Given the description of an element on the screen output the (x, y) to click on. 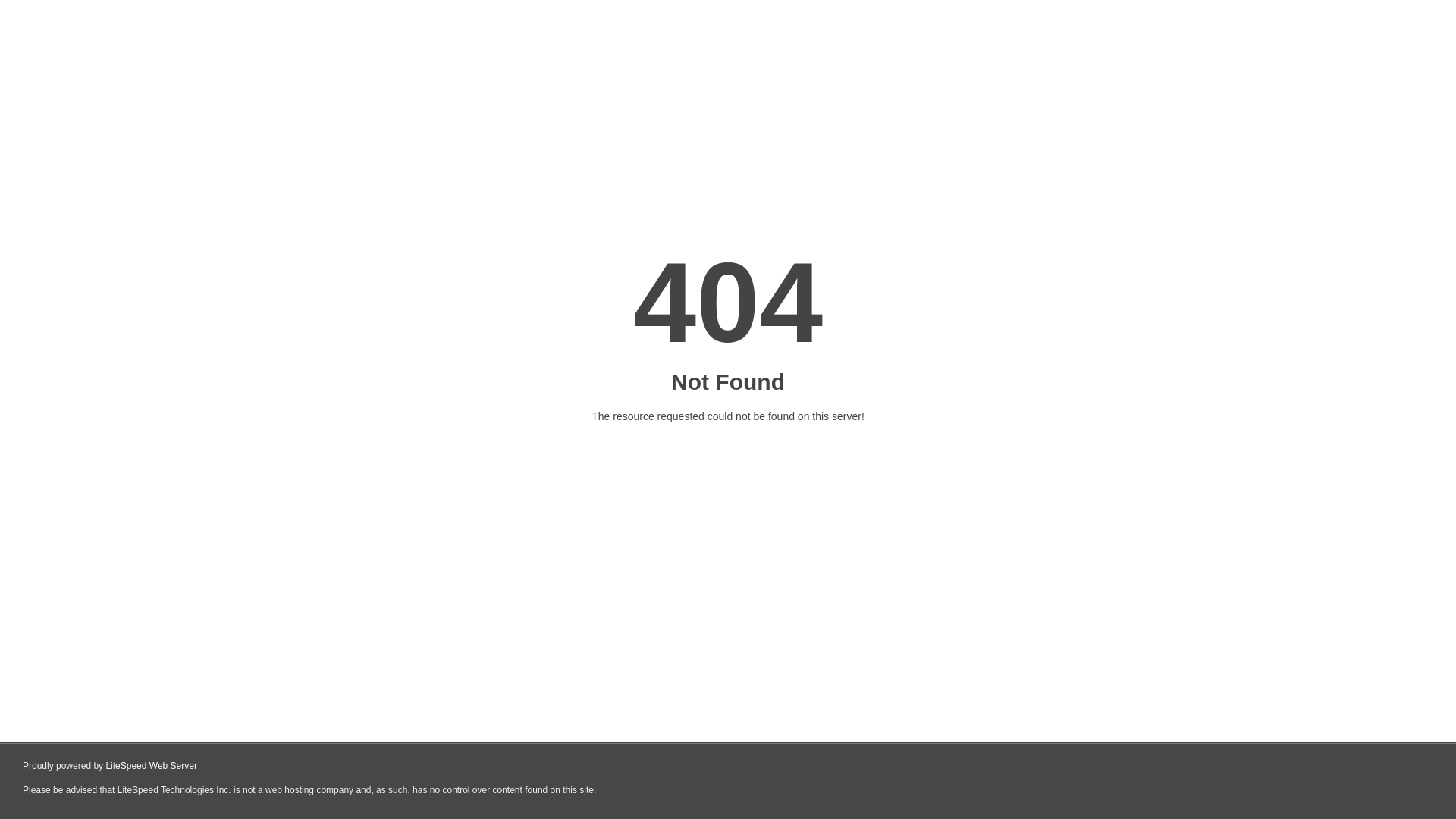
LiteSpeed Web Server Element type: text (151, 765)
